Given the description of an element on the screen output the (x, y) to click on. 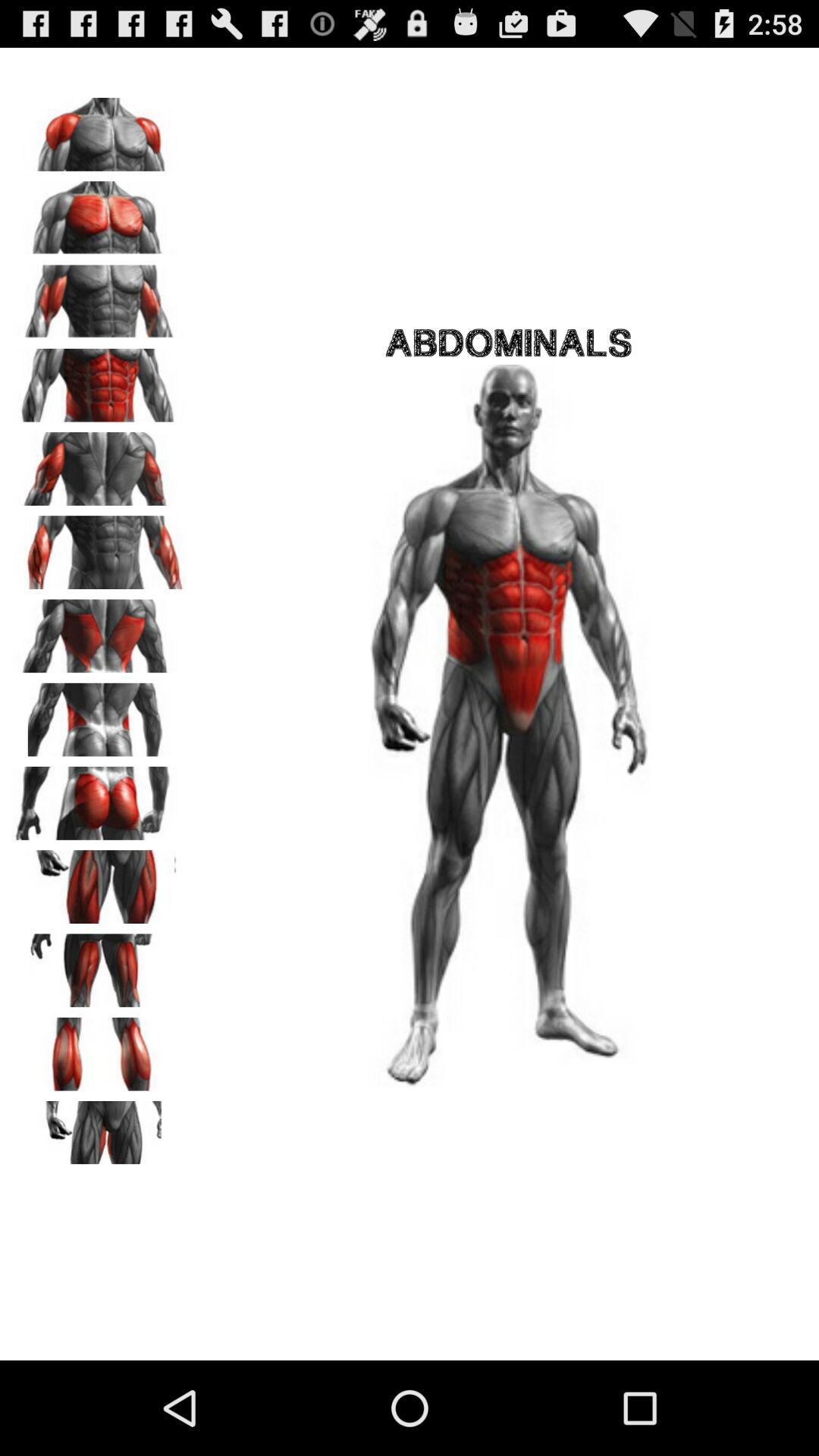
choose muscle group (99, 1048)
